Given the description of an element on the screen output the (x, y) to click on. 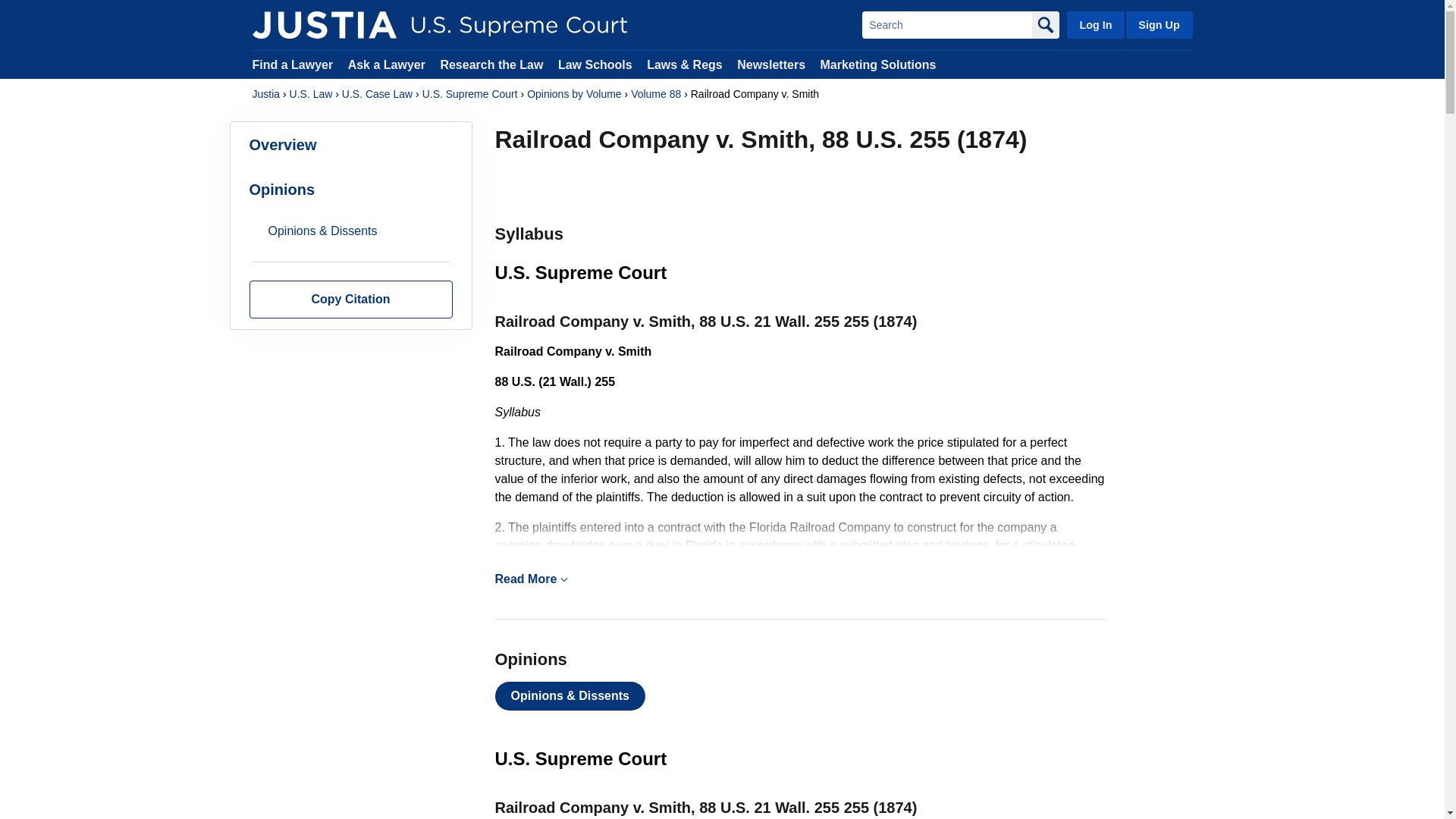
Volume 88 (655, 93)
Search (945, 24)
Law Schools (594, 64)
Opinions by Volume (574, 93)
Marketing Solutions (877, 64)
Find a Lawyer (292, 64)
Read More (800, 579)
Ask a Lawyer (388, 64)
Mobile Navigation (563, 579)
Justia (265, 93)
U.S. Supreme Court (470, 93)
U.S. Case Law (377, 93)
Sign Up (1158, 24)
Justia (323, 24)
Log In (1094, 24)
